Given the description of an element on the screen output the (x, y) to click on. 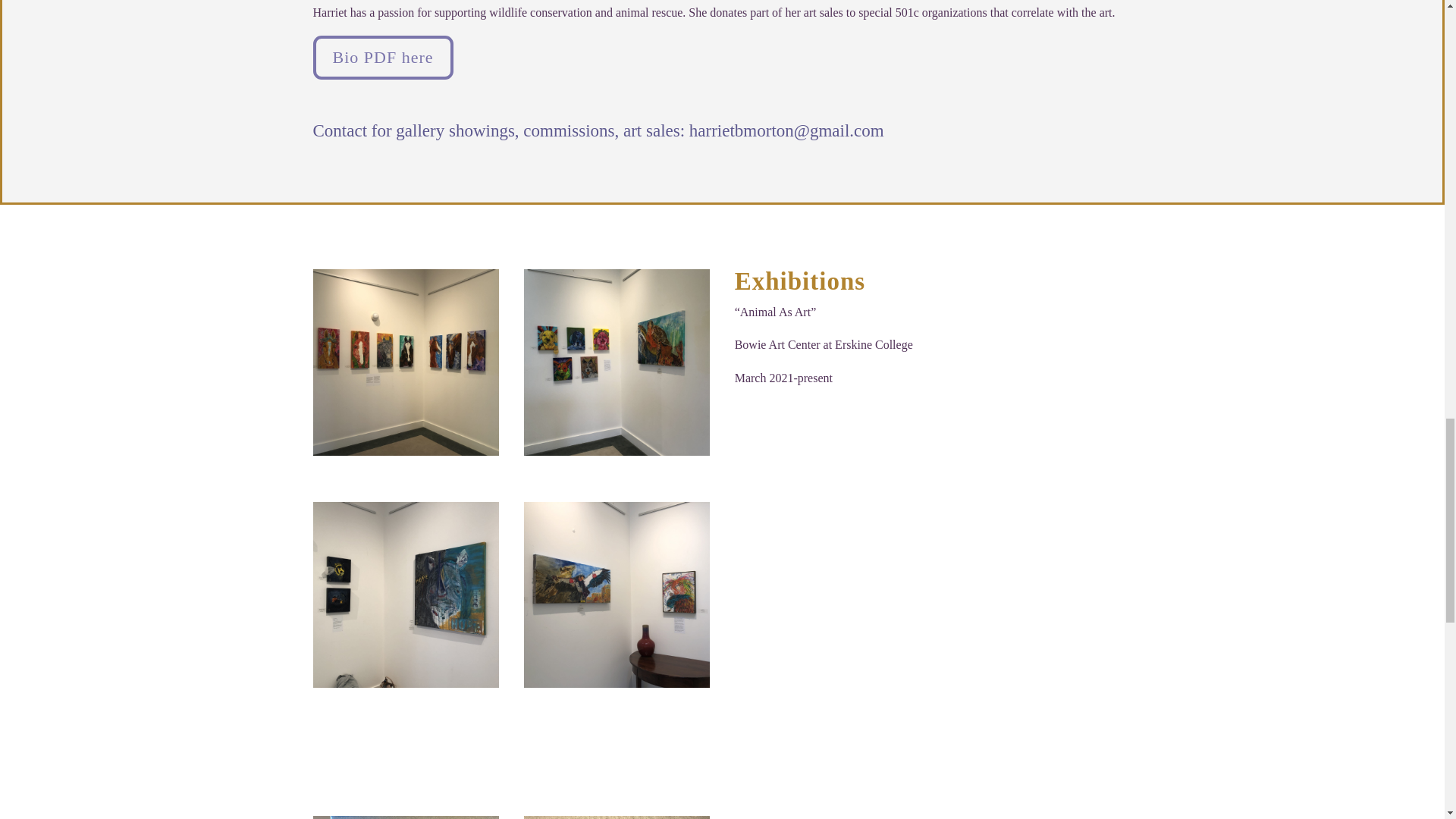
06522289-8231-41FE-8463-A622F2A4743A (617, 817)
Bio PDF here (382, 58)
